Given the description of an element on the screen output the (x, y) to click on. 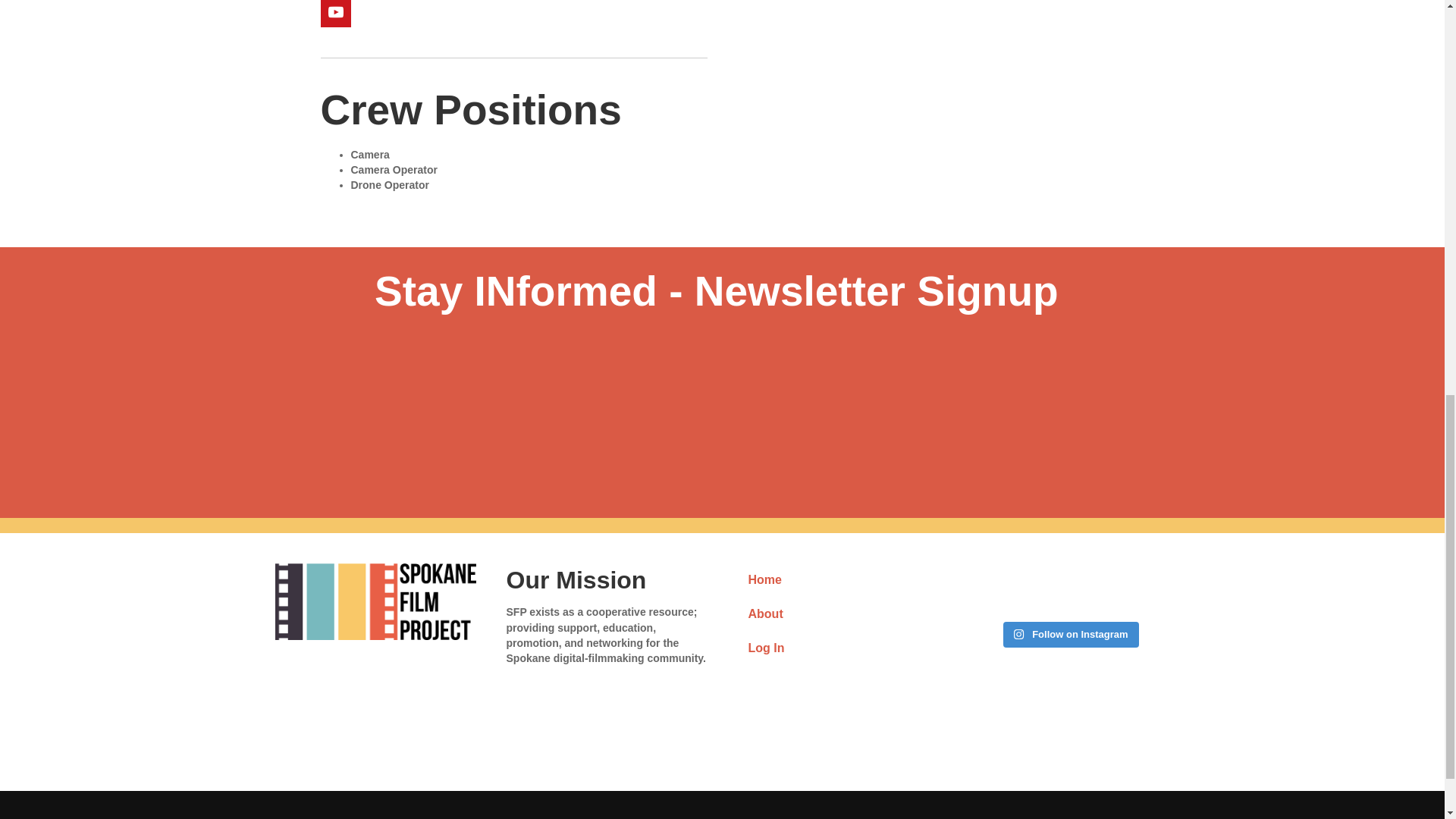
Spokane Film Project (375, 601)
Home (836, 580)
About (836, 613)
